Given the description of an element on the screen output the (x, y) to click on. 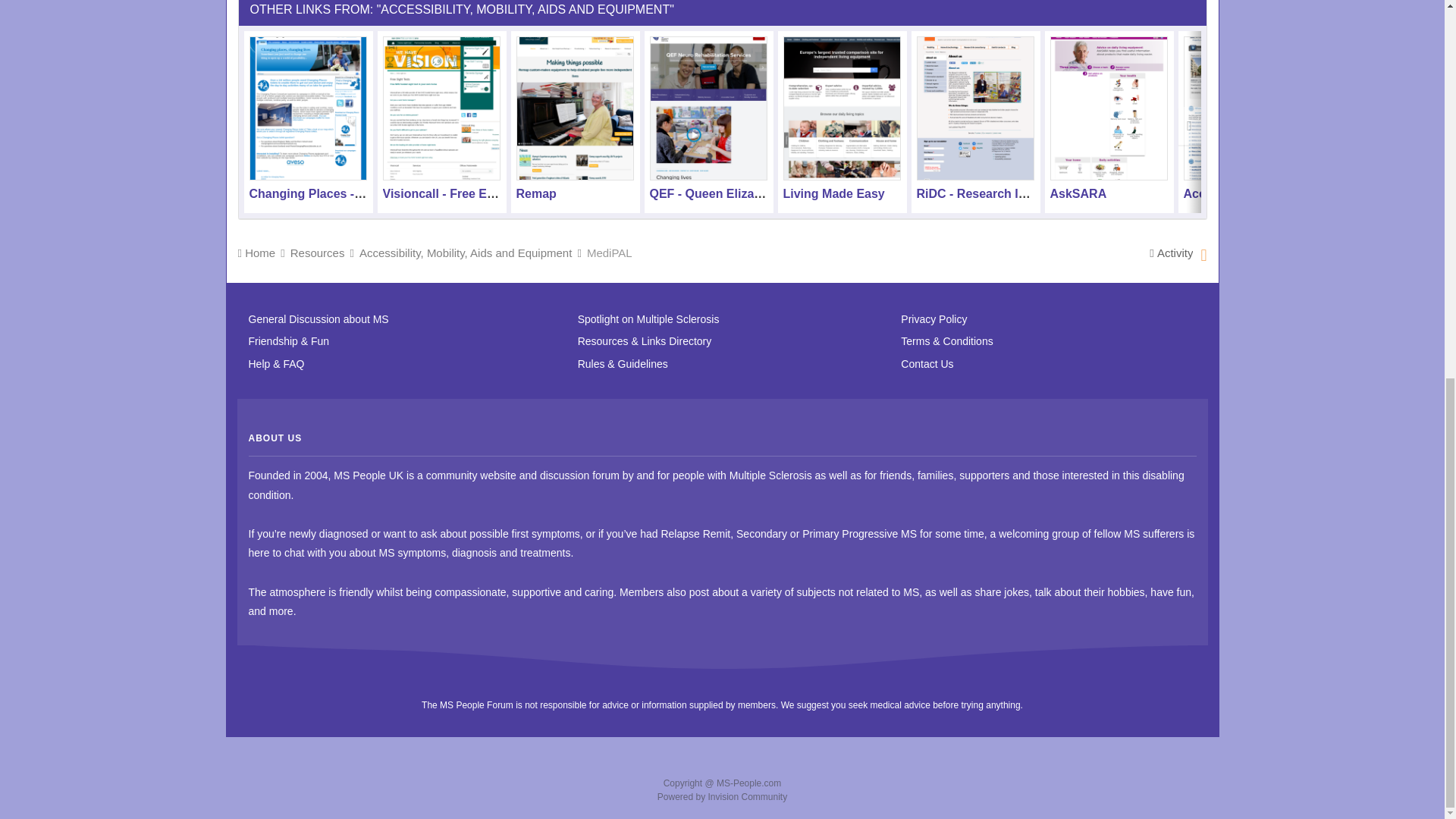
More information about "Remap" (574, 108)
More information about "Changing Places - Toilets" (307, 108)
More information about "Changing Places - Toilets" (322, 193)
